Given the description of an element on the screen output the (x, y) to click on. 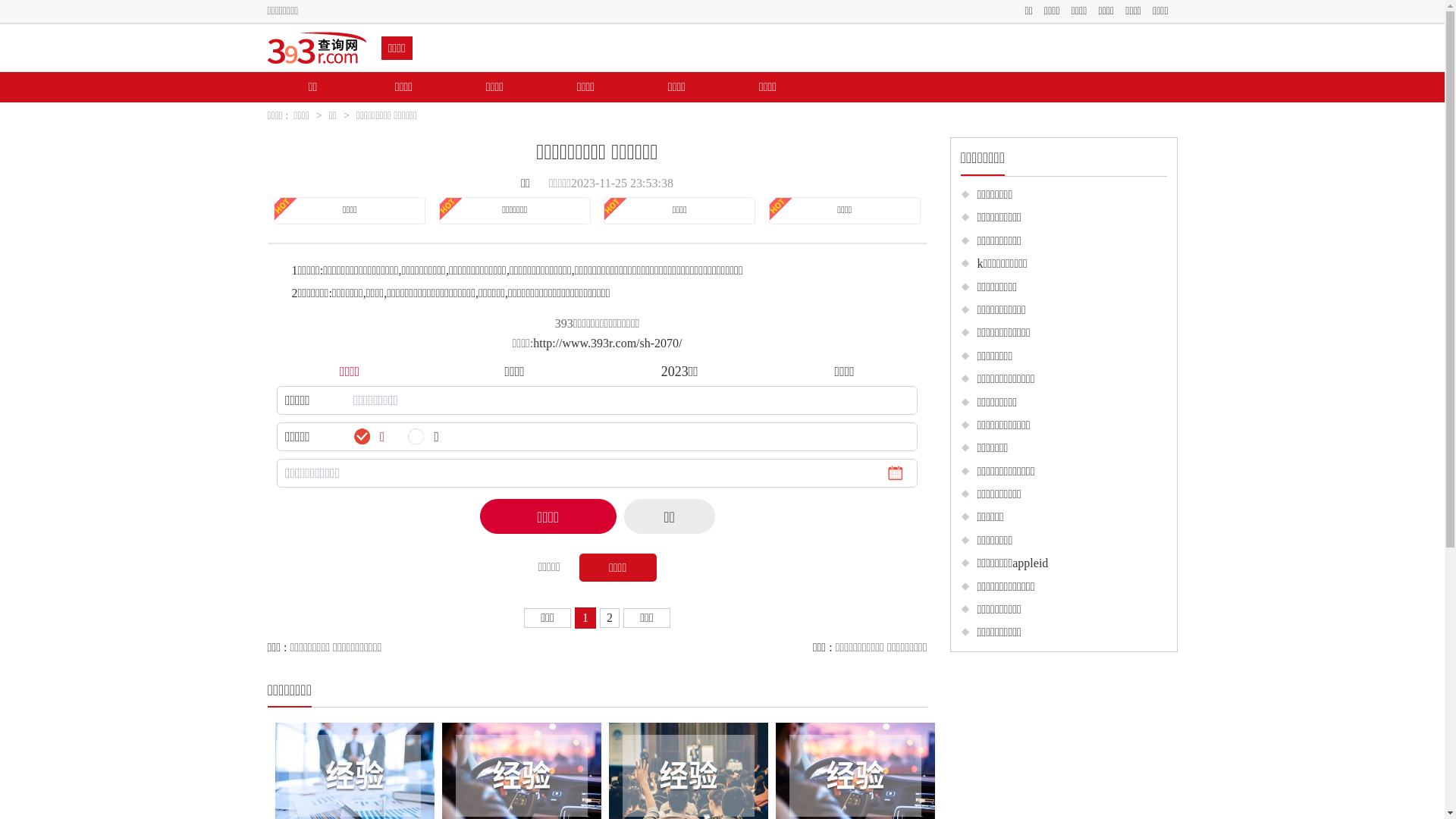
1 Element type: text (585, 617)
http://www.393r.com/sh-2070/ Element type: text (607, 342)
2 Element type: text (609, 617)
